Given the description of an element on the screen output the (x, y) to click on. 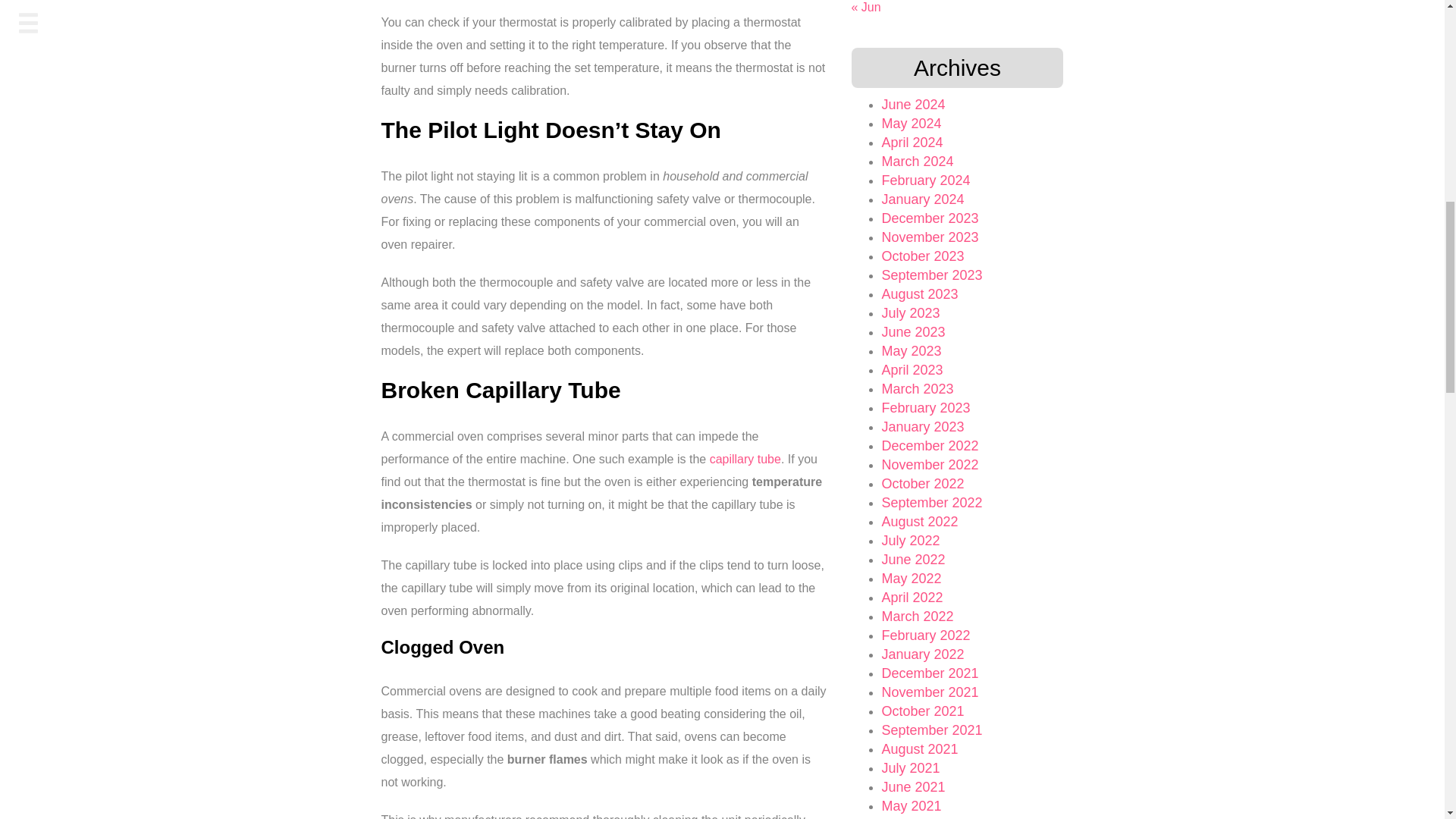
January 2024 (921, 199)
September 2023 (930, 274)
August 2023 (919, 294)
February 2023 (924, 407)
capillary tube (745, 459)
September 2022 (930, 502)
December 2022 (929, 445)
October 2022 (921, 483)
May 2024 (910, 123)
June 2023 (912, 331)
November 2022 (929, 464)
April 2024 (911, 142)
December 2023 (929, 218)
May 2023 (910, 350)
June 2024 (912, 104)
